Given the description of an element on the screen output the (x, y) to click on. 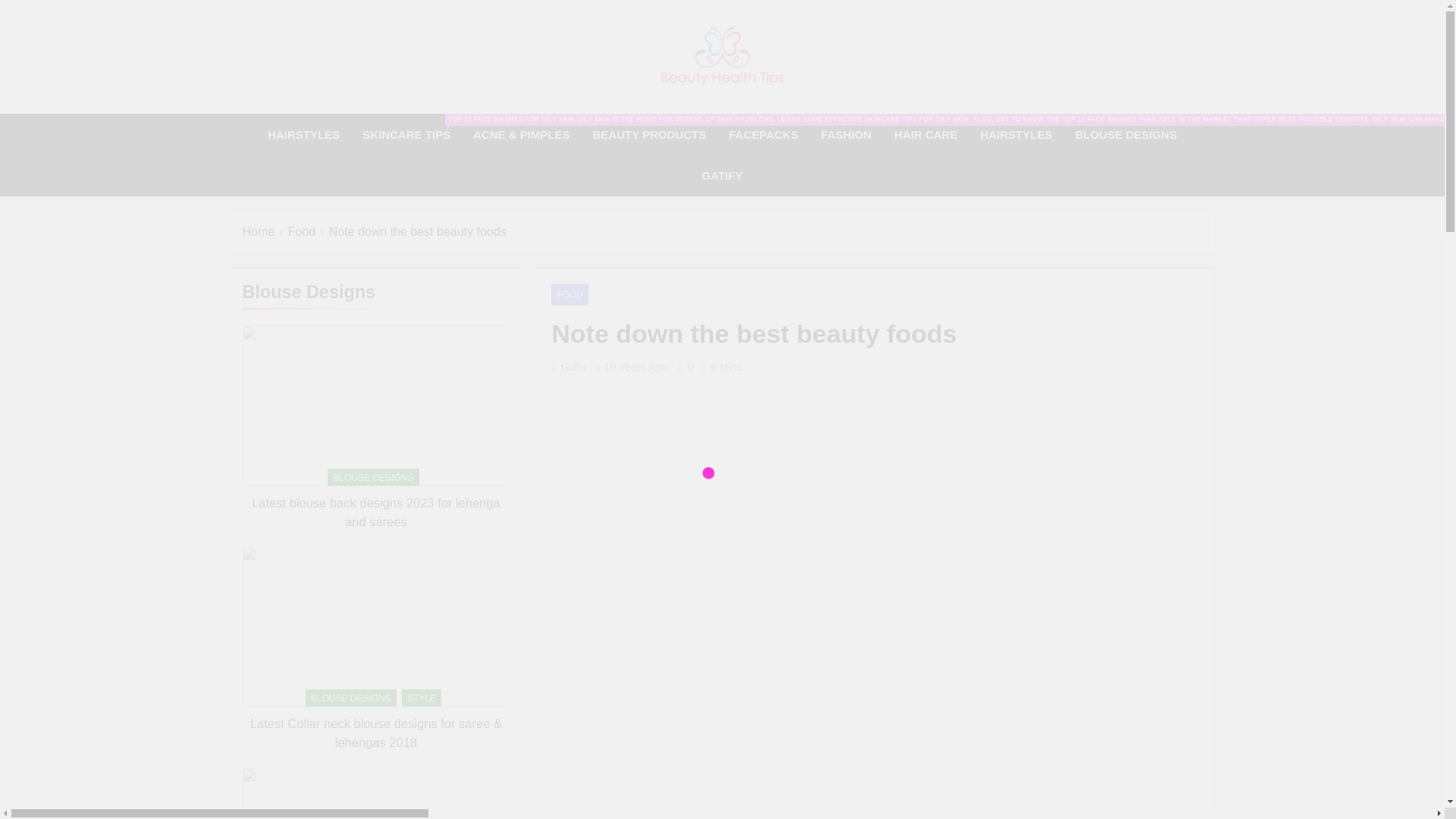
HAIRSTYLES (303, 134)
BLOUSE DESIGNS (373, 477)
HAIR CARE (925, 134)
FOOD (569, 294)
GATIFY (722, 175)
HAIRSTYLES (1016, 134)
BEAUTY PRODUCTS (648, 134)
BLOUSE DESIGNS (1126, 134)
BLOUSE DESIGNS (350, 697)
Home (265, 231)
